Given the description of an element on the screen output the (x, y) to click on. 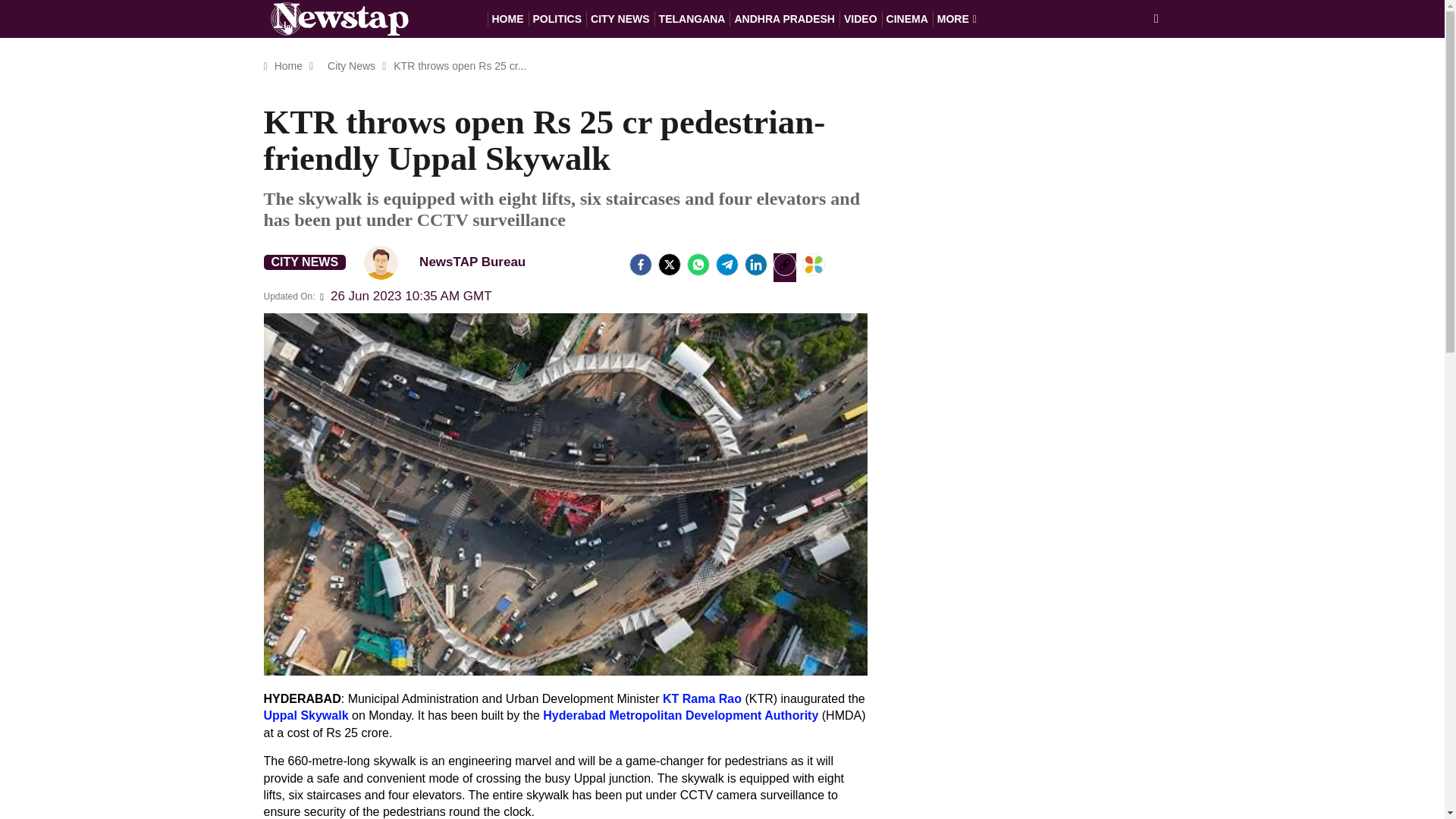
LinkedIn (755, 264)
CINEMA (907, 18)
MORE (957, 18)
ANDHRA PRADESH (784, 18)
HOME (506, 18)
CITY NEWS (619, 18)
VIDEO (861, 18)
TELANGANA (691, 18)
CITY NEWS (304, 262)
POLITICS (556, 18)
NewsTAP Bureau (451, 261)
City News (350, 65)
Home (287, 65)
NewsTAP Bureau (380, 262)
